Given the description of an element on the screen output the (x, y) to click on. 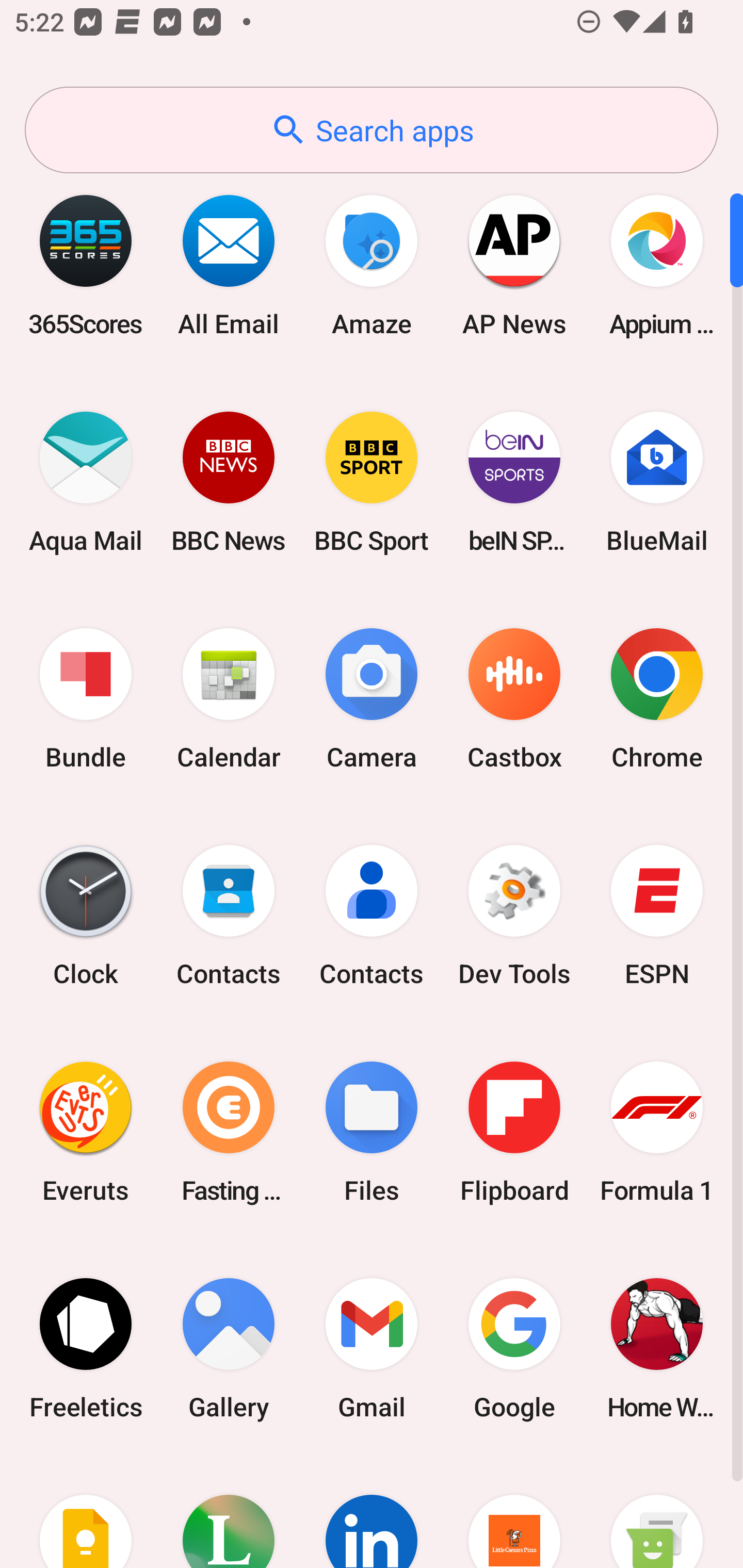
  Search apps (371, 130)
365Scores (85, 264)
All Email (228, 264)
Amaze (371, 264)
AP News (514, 264)
Appium Settings (656, 264)
Aqua Mail (85, 482)
BBC News (228, 482)
BBC Sport (371, 482)
beIN SPORTS (514, 482)
BlueMail (656, 482)
Bundle (85, 699)
Calendar (228, 699)
Camera (371, 699)
Castbox (514, 699)
Chrome (656, 699)
Clock (85, 915)
Contacts (228, 915)
Contacts (371, 915)
Dev Tools (514, 915)
ESPN (656, 915)
Everuts (85, 1131)
Fasting Coach (228, 1131)
Files (371, 1131)
Flipboard (514, 1131)
Formula 1 (656, 1131)
Freeletics (85, 1348)
Gallery (228, 1348)
Gmail (371, 1348)
Google (514, 1348)
Home Workout (656, 1348)
Keep Notes (85, 1512)
Lifesum (228, 1512)
LinkedIn (371, 1512)
Little Caesars Pizza (514, 1512)
Messaging (656, 1512)
